Given the description of an element on the screen output the (x, y) to click on. 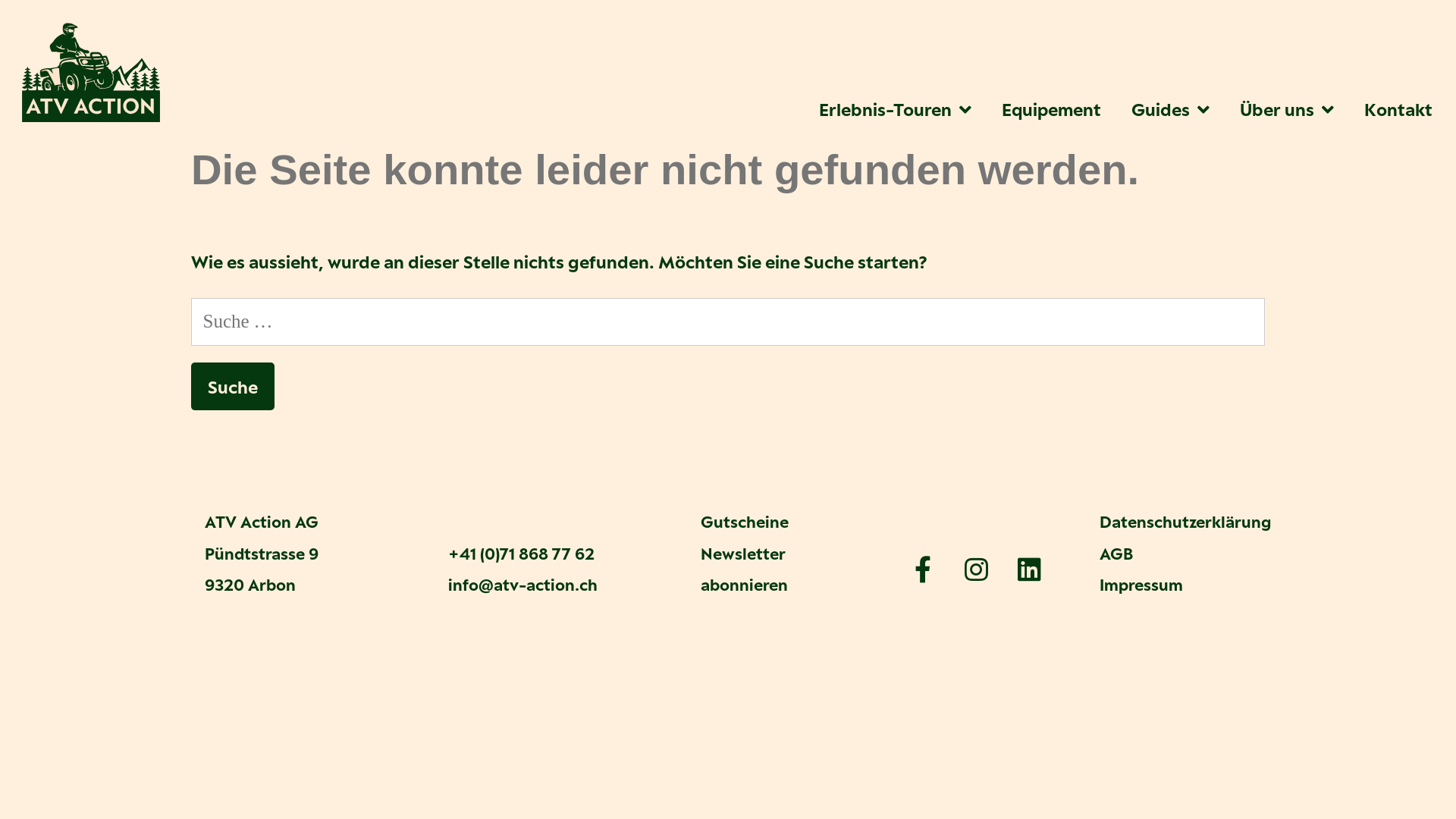
Impressum Element type: text (1141, 584)
Newsletter abonnieren Element type: text (743, 568)
Kontakt Element type: text (1397, 109)
Gutscheine Element type: text (744, 521)
Erlebnis-Touren Element type: text (895, 109)
Guides Element type: text (1170, 109)
Suche Element type: text (232, 386)
AGB Element type: text (1116, 553)
info@atv-action.ch Element type: text (522, 584)
Equipement Element type: text (1050, 109)
+41 (0)71 868 77 62 Element type: text (521, 553)
